Given the description of an element on the screen output the (x, y) to click on. 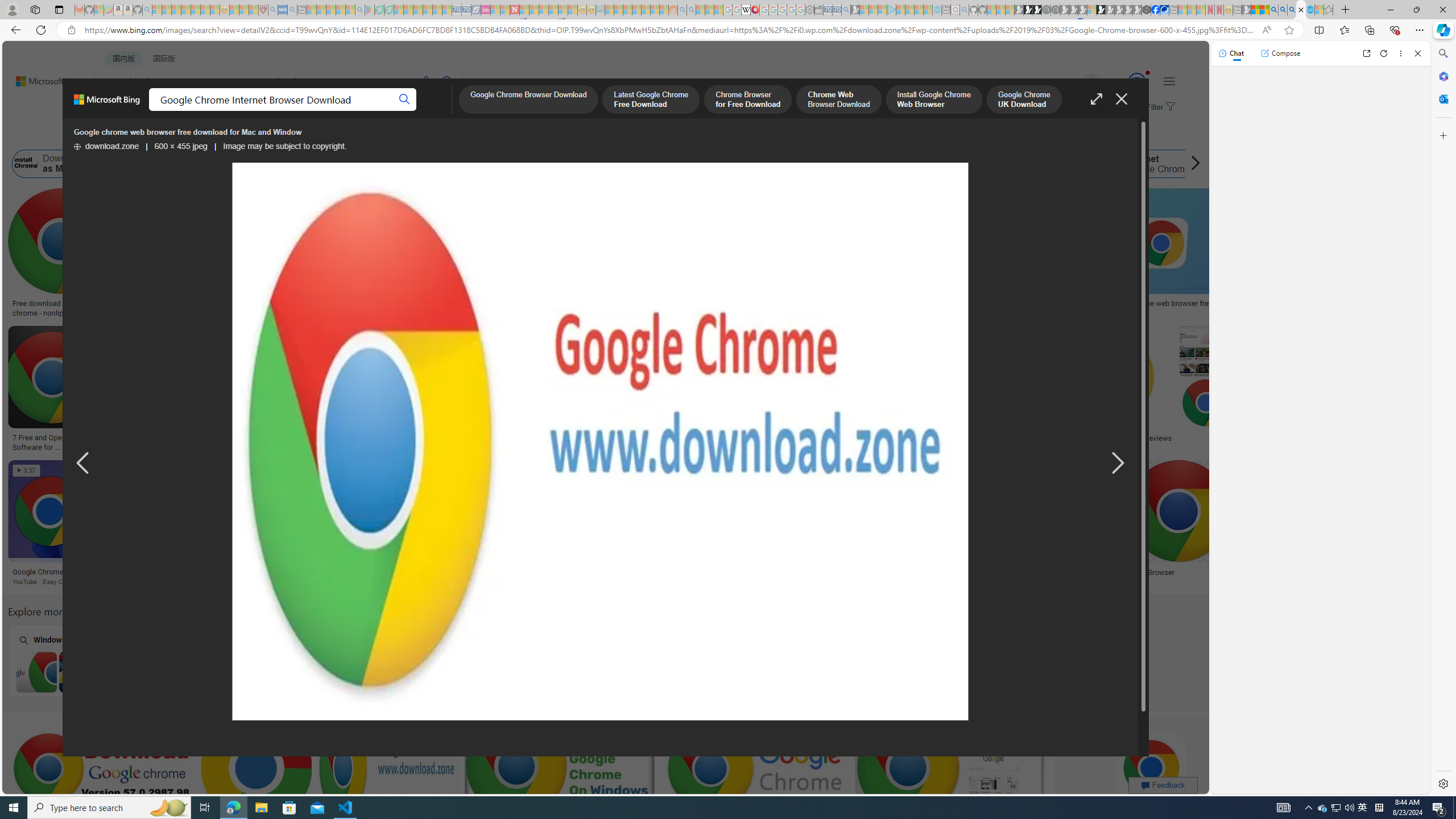
Google Chrome Web Browser Free Download (378, 163)
Windows 10 64-Bit (370, 660)
Google.com Chrome Download (781, 163)
Free download google chrome - nonlipat (61, 307)
Date (336, 135)
